Given the description of an element on the screen output the (x, y) to click on. 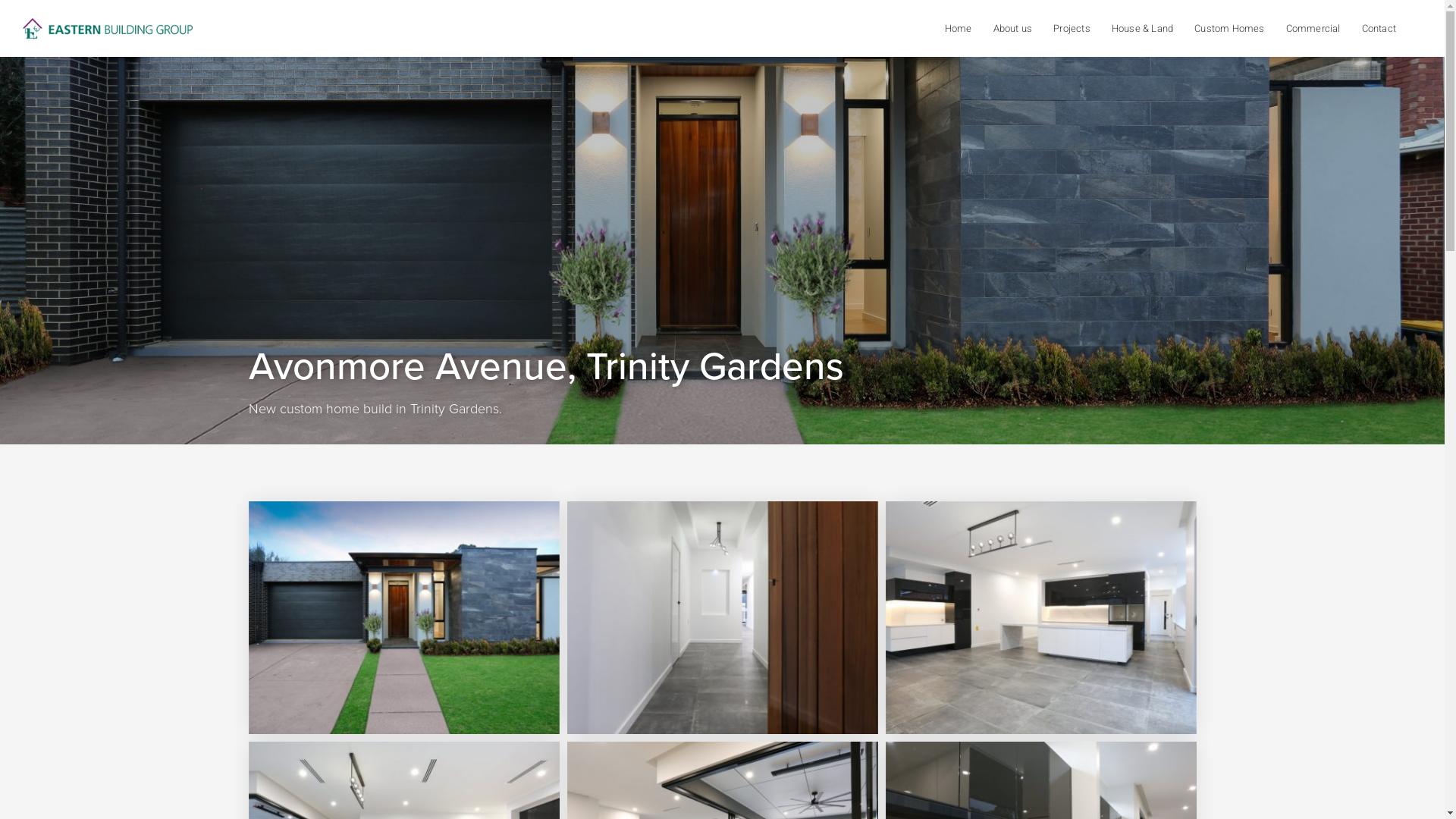
Contact Element type: text (1378, 28)
House & Land Element type: text (1142, 28)
Custom Home Build in Trinity Gardens Element type: hover (722, 617)
Home Element type: text (958, 28)
Custom Home Build in Trinity Gardens Element type: hover (1040, 617)
Custom Homes Element type: text (1229, 28)
About us Element type: text (1012, 28)
Commercial Element type: text (1313, 28)
Projects Element type: text (1071, 28)
Custom Home Build in Trinity Gardens Element type: hover (403, 617)
